Given the description of an element on the screen output the (x, y) to click on. 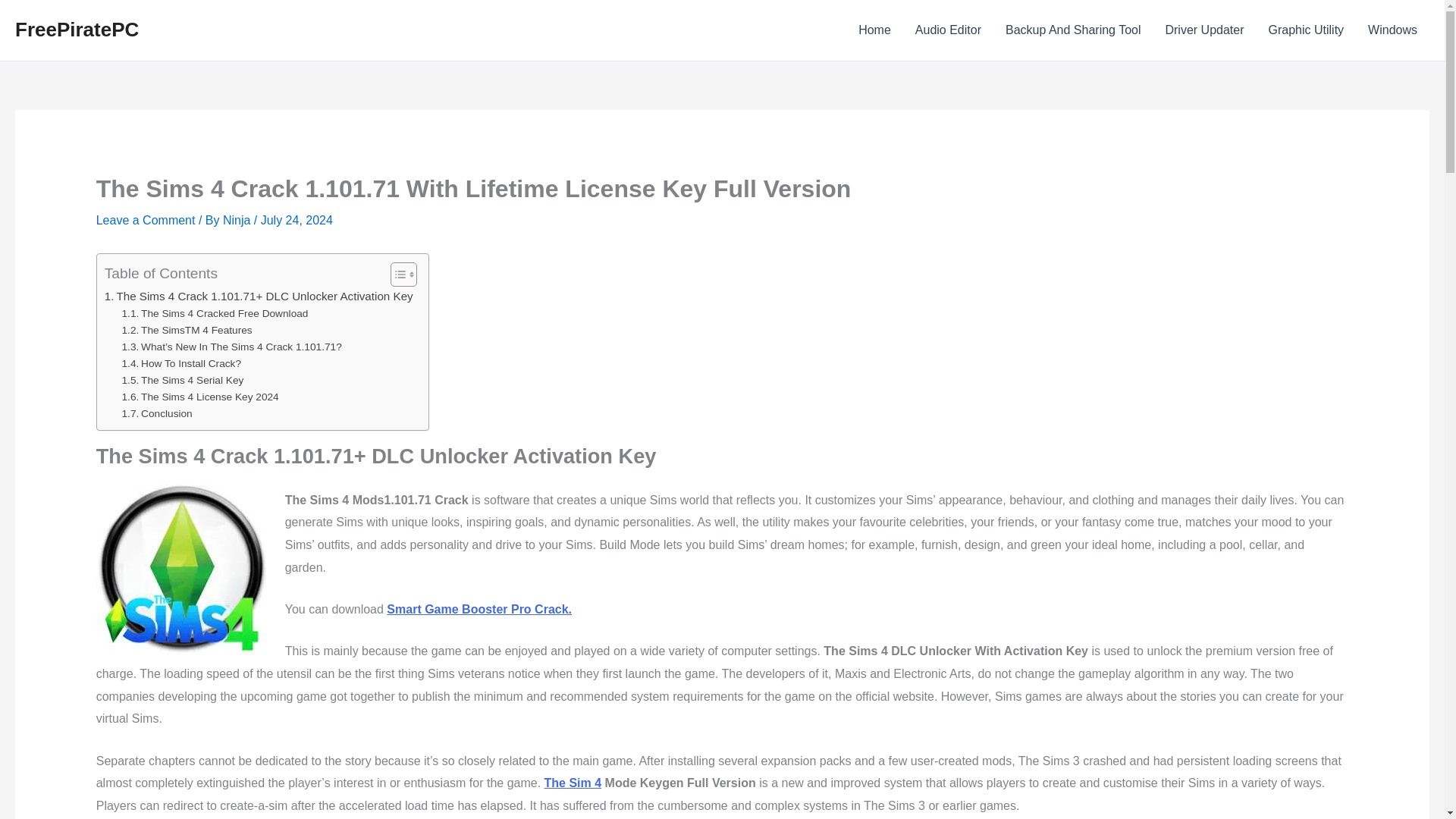
Conclusion (157, 413)
FreePiratePC (76, 29)
Smart Game Booster Pro Crack. (479, 608)
The Sim 4 (573, 782)
The Sims 4 License Key 2024 (200, 397)
Driver Updater (1204, 30)
Backup And Sharing Tool (1072, 30)
Conclusion (157, 413)
Graphic Utility (1306, 30)
Home (873, 30)
